Given the description of an element on the screen output the (x, y) to click on. 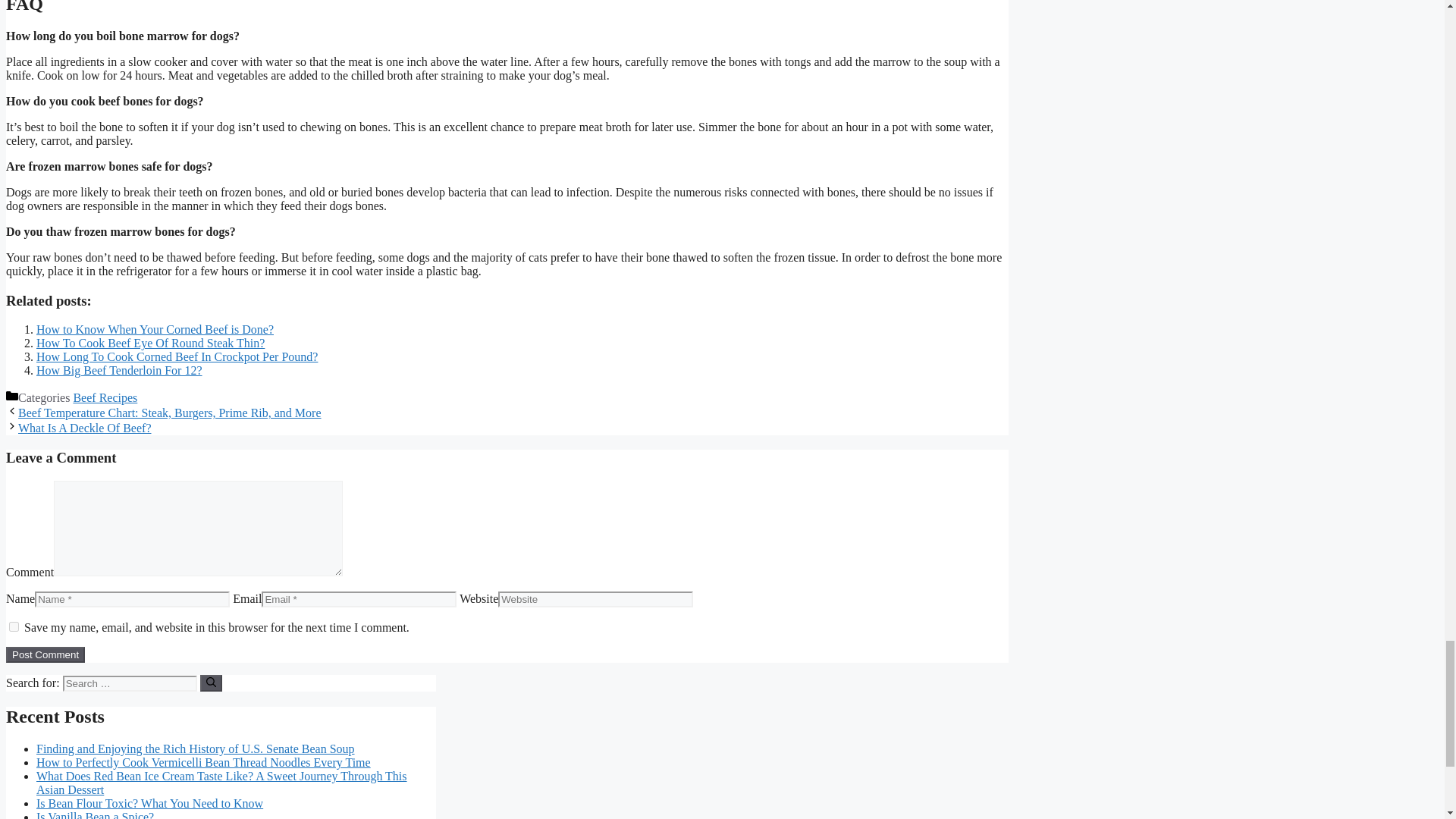
How to Know When Your Corned Beef is Done? (154, 328)
Search for: (129, 683)
Post Comment (44, 654)
How Big Beef Tenderloin For 12? (119, 369)
Is Vanilla Bean a Spice? (95, 814)
Beef Temperature Chart: Steak, Burgers, Prime Rib, and More (169, 412)
How Long To Cook Corned Beef In Crockpot Per Pound? (176, 356)
Beef Recipes (104, 397)
